Given the description of an element on the screen output the (x, y) to click on. 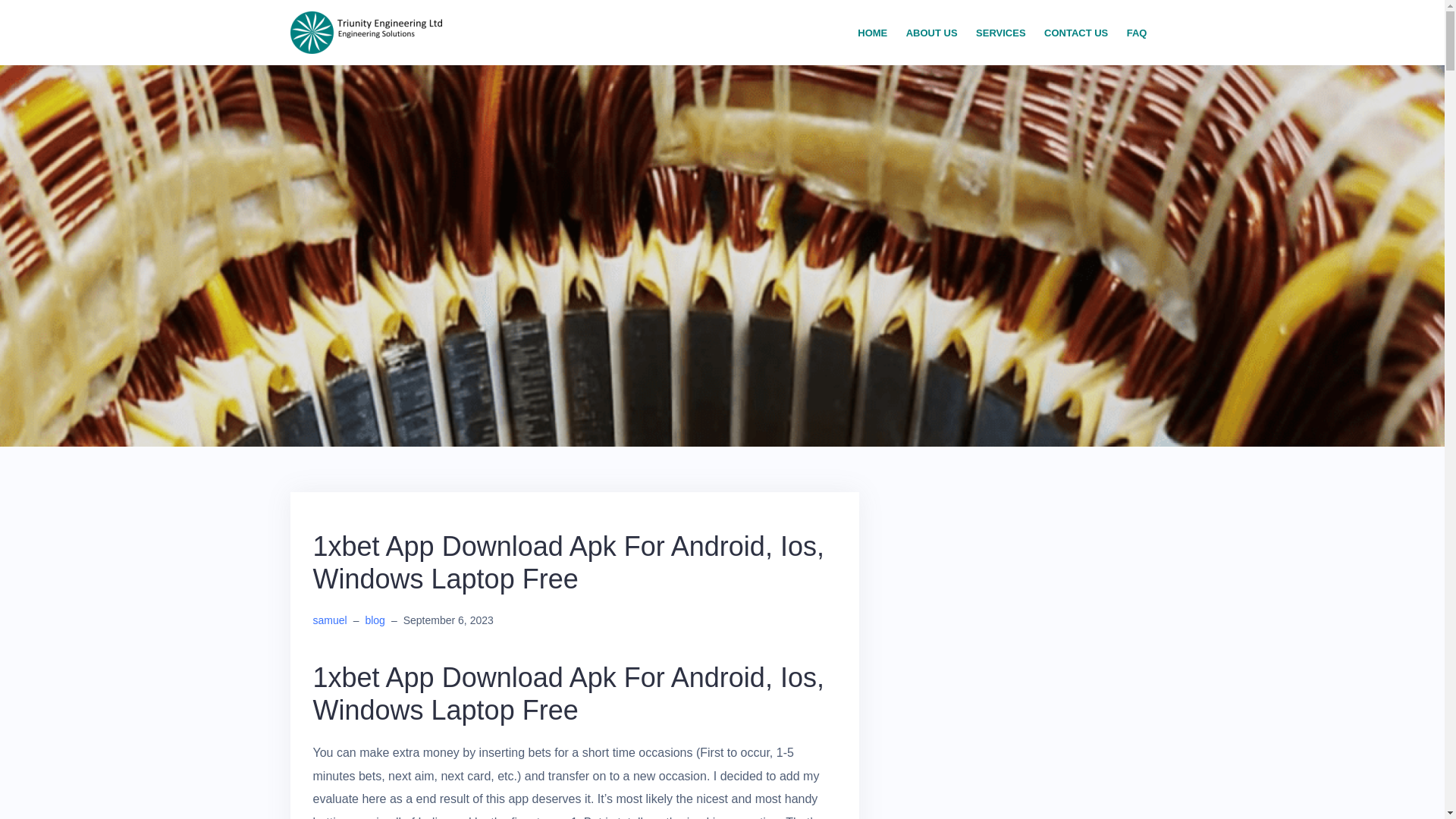
ABOUT US (931, 33)
CONTACT US (1075, 33)
blog (374, 620)
SERVICES (1000, 33)
FAQ (1136, 33)
HOME (871, 33)
samuel (329, 620)
